Given the description of an element on the screen output the (x, y) to click on. 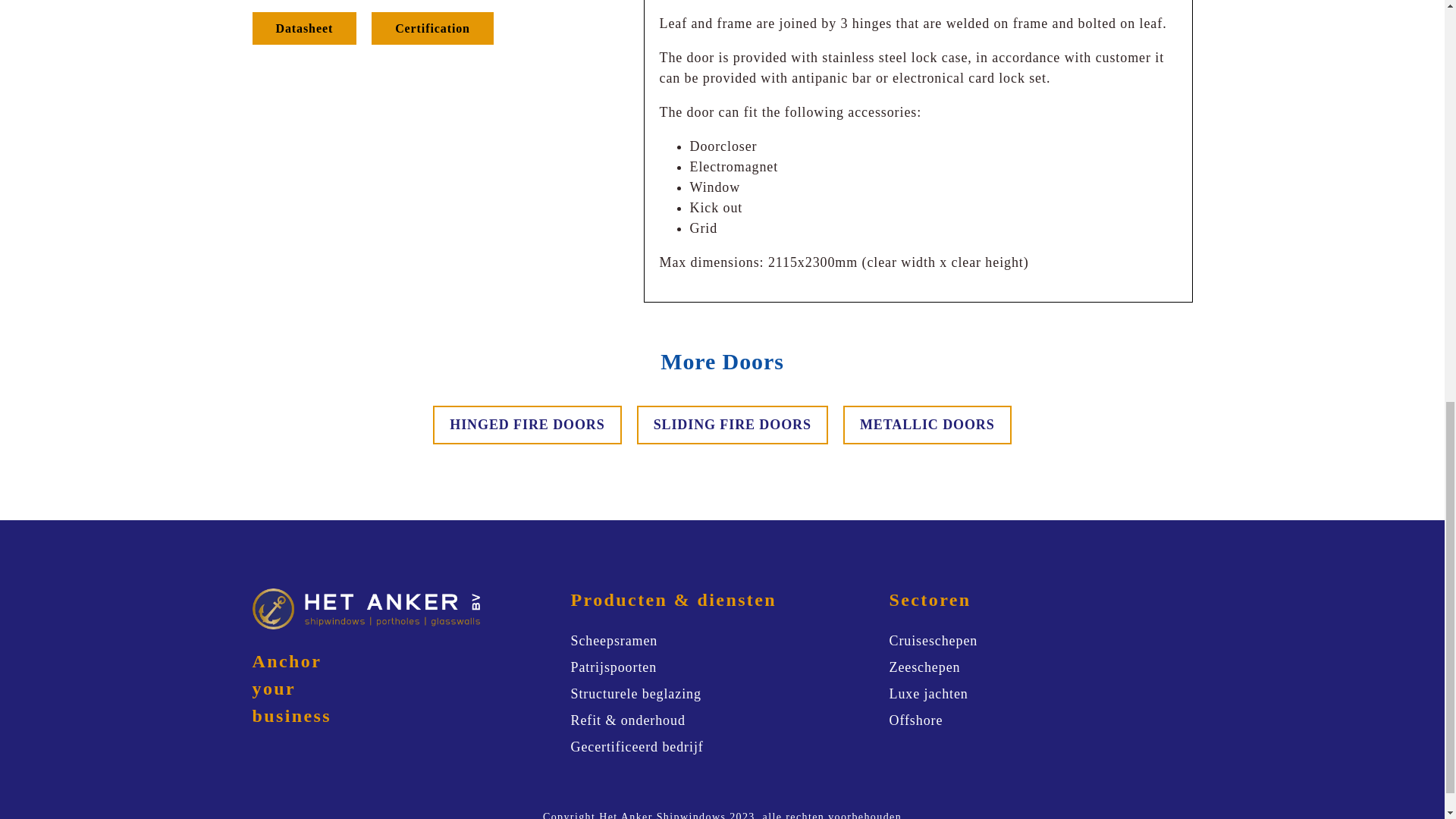
Datasheet (303, 28)
Zeeschepen (923, 667)
Luxe jachten (928, 693)
Scheepsramen (614, 640)
Certification (432, 28)
HINGED FIRE DOORS (526, 424)
Cruiseschepen (932, 640)
Patrijspoorten (613, 667)
METALLIC DOORS (927, 424)
Offshore (915, 720)
SLIDING FIRE DOORS (732, 424)
Structurele beglazing (635, 693)
Gecertificeerd bedrijf (636, 747)
